Given the description of an element on the screen output the (x, y) to click on. 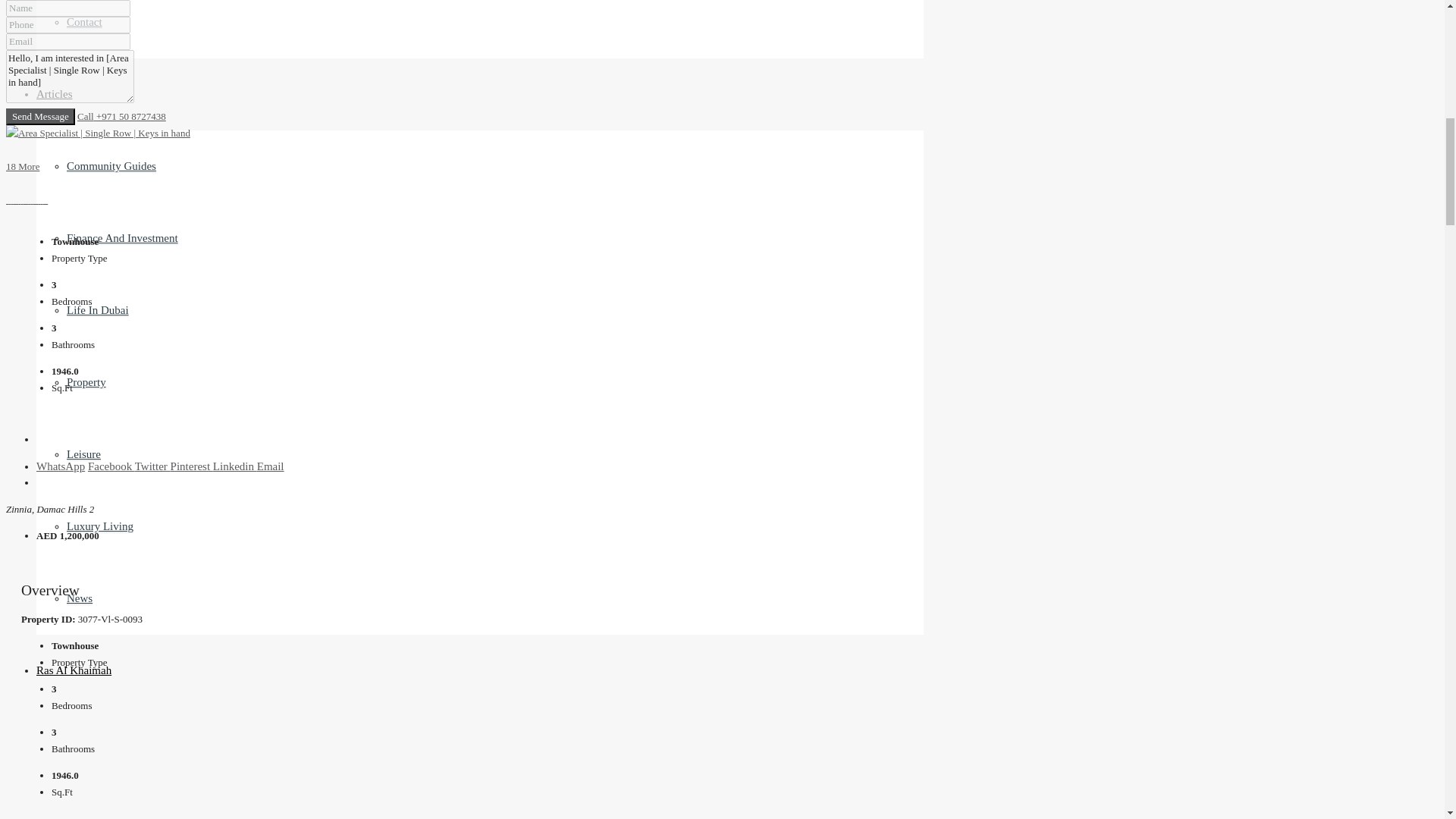
Finance And Investment (121, 237)
Ras Al Khaimah (74, 670)
Leisure (83, 454)
Property (86, 382)
Community Guides (110, 165)
Contact (83, 21)
Life In Dubai (97, 309)
News (79, 598)
Luxury Living (99, 526)
Articles (53, 93)
